Given the description of an element on the screen output the (x, y) to click on. 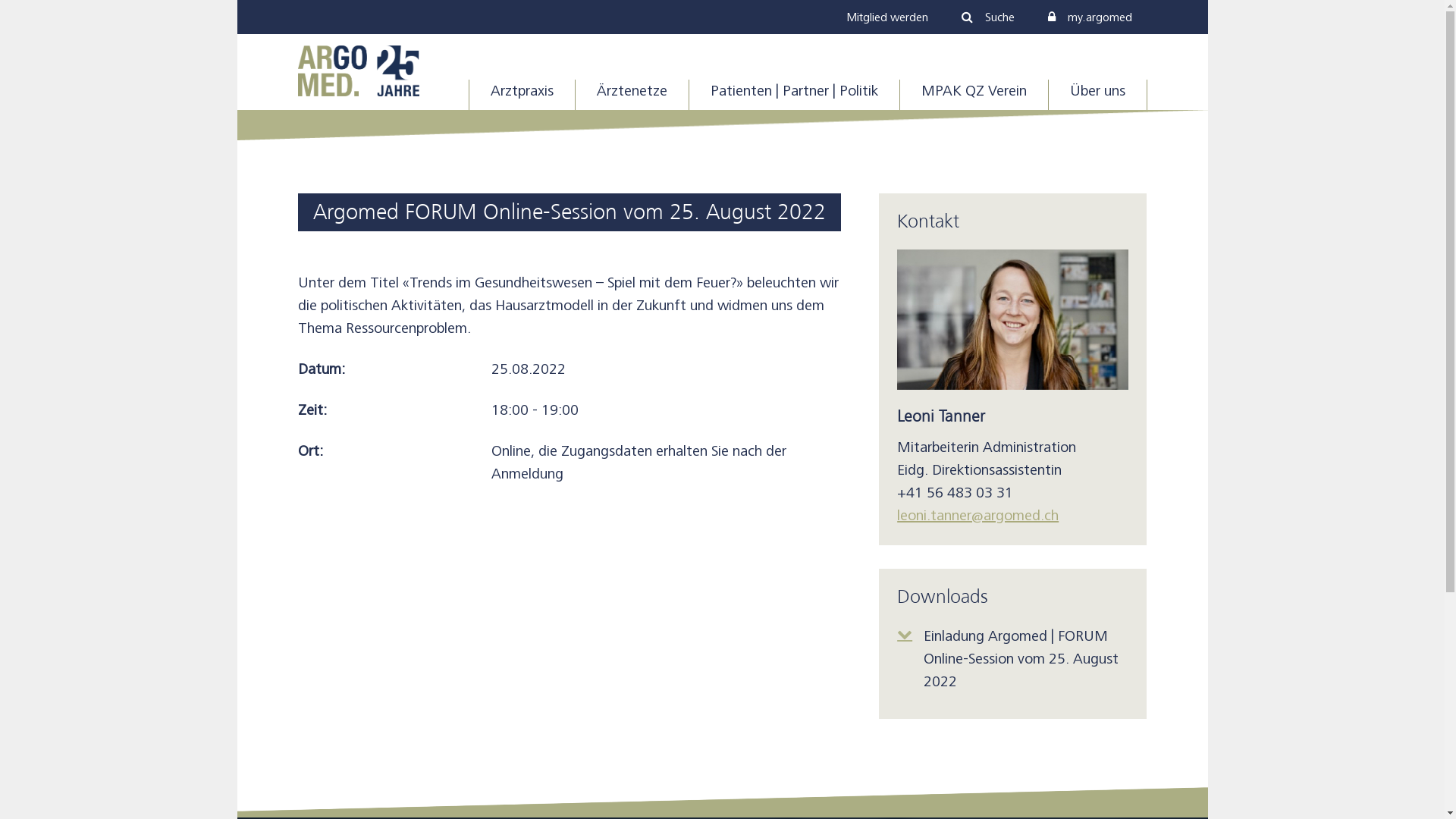
Suche Element type: text (987, 17)
Einladung Argomed | FORUM Online-Session vom 25. August 2022 Element type: text (1012, 658)
Arztpraxis Element type: text (521, 94)
Patienten | Partner | Politik Element type: text (793, 94)
my.argomed Element type: text (1089, 17)
Mitglied werden Element type: text (887, 17)
MPAK QZ Verein Element type: text (973, 94)
leoni.tanner@argomed.ch Element type: text (977, 515)
